Given the description of an element on the screen output the (x, y) to click on. 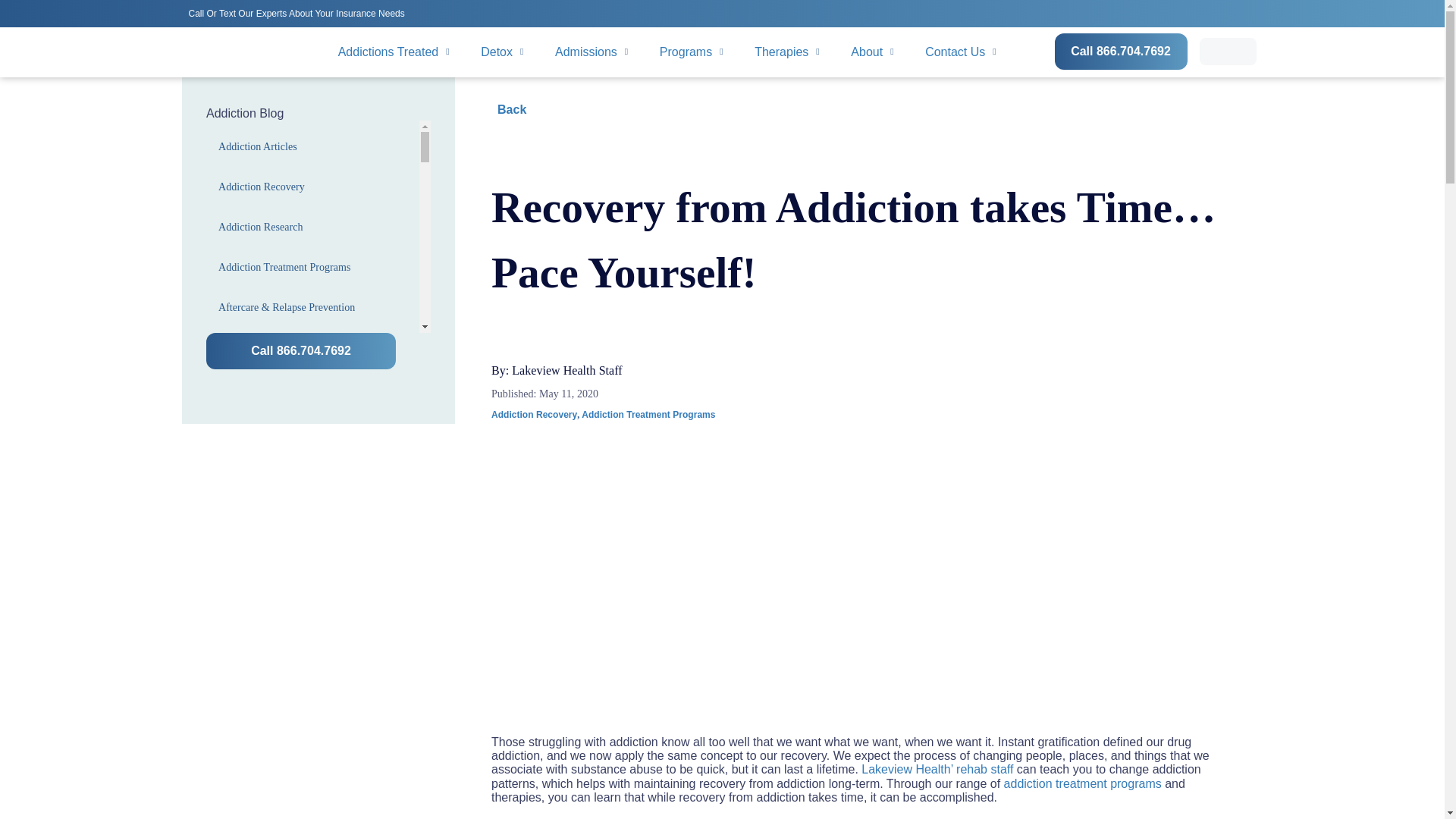
Programs (691, 51)
Call Or Text Our Experts About Your Insurance Needs (298, 12)
Admissions (591, 51)
Detox (502, 51)
Addictions Treated (394, 51)
Therapies (787, 51)
